Given the description of an element on the screen output the (x, y) to click on. 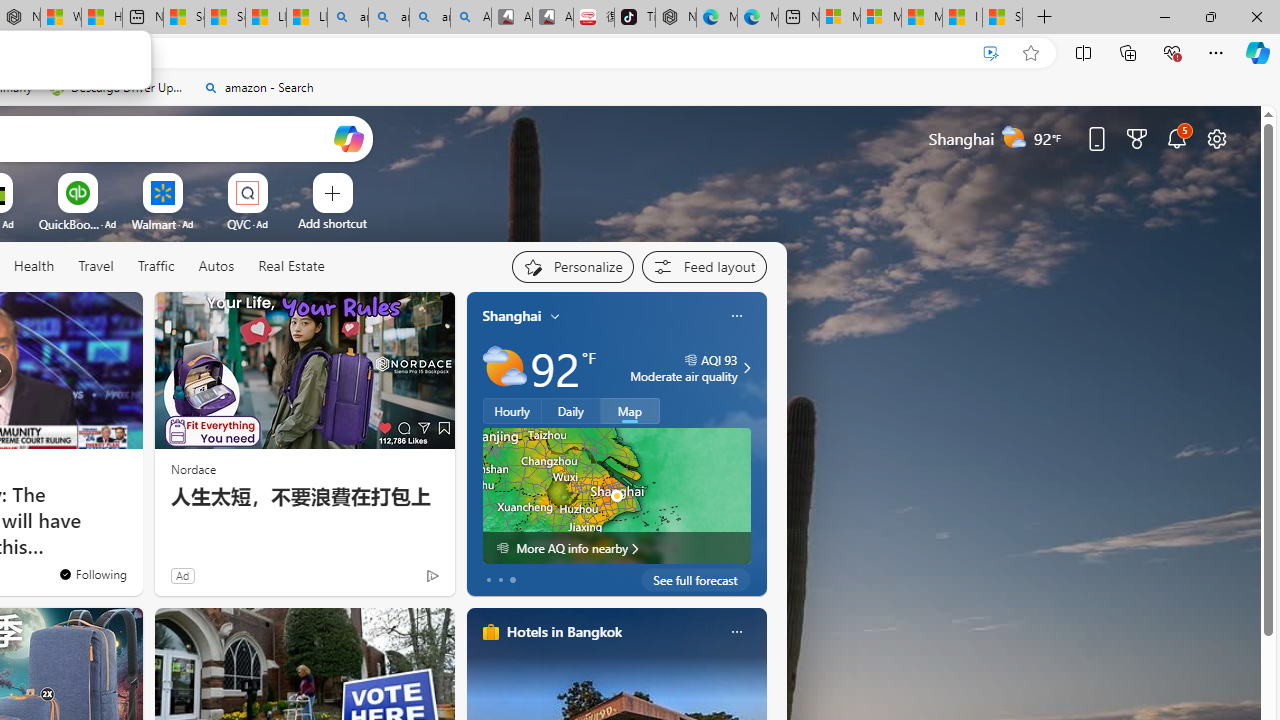
Traffic (155, 267)
Notifications (1176, 138)
hotels-header-icon (490, 632)
Nordace - Best Sellers (675, 17)
I Gained 20 Pounds of Muscle in 30 Days! | Watch (962, 17)
Minimize (1164, 16)
Travel (95, 267)
Amazon Echo Robot - Search Images (470, 17)
See more (118, 315)
